Given the description of an element on the screen output the (x, y) to click on. 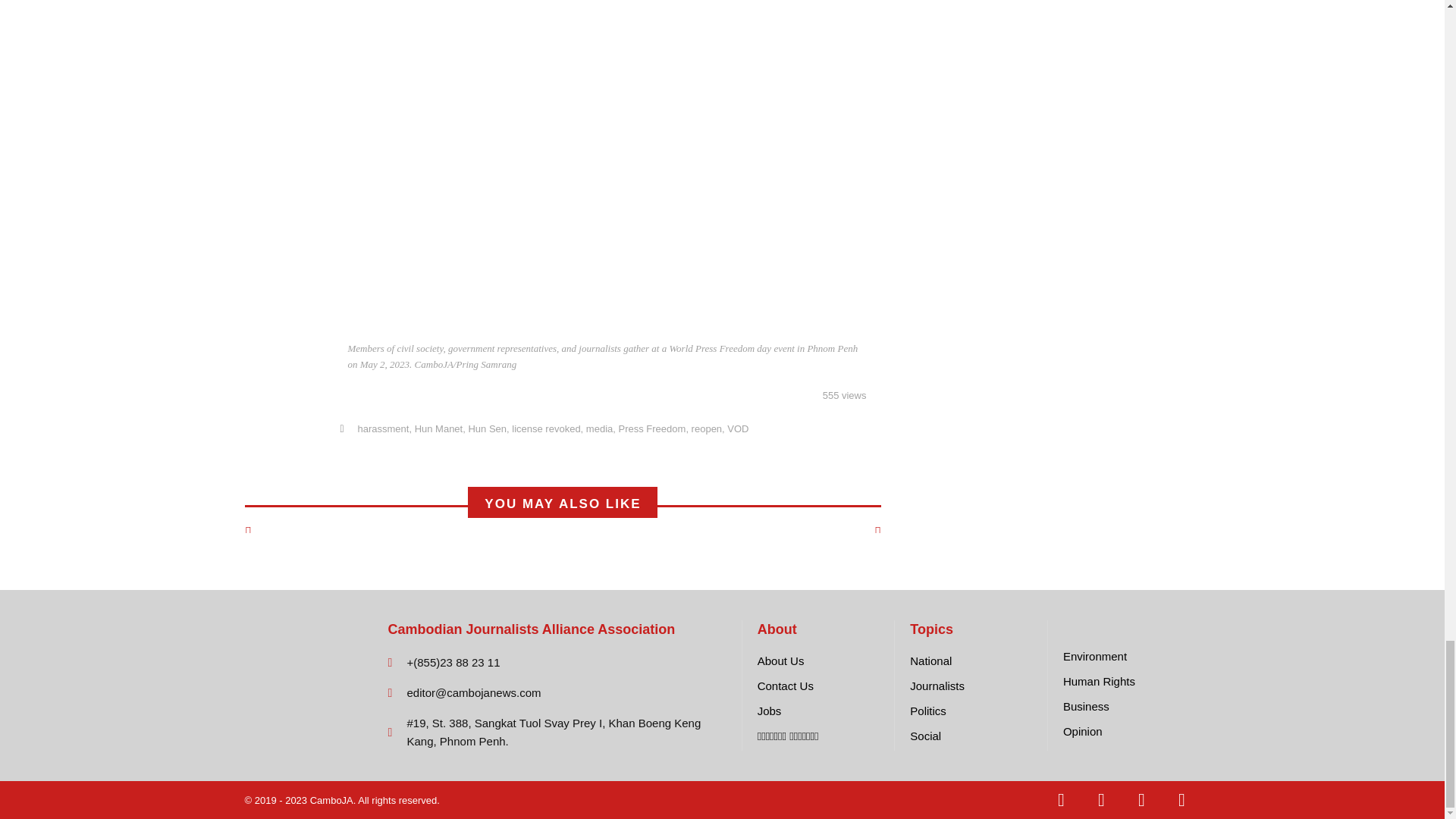
VOD (737, 428)
Hun Sen (486, 428)
license revoked (545, 428)
Press Freedom (651, 428)
harassment (382, 428)
media (599, 428)
Hun Manet (438, 428)
reopen (706, 428)
